Given the description of an element on the screen output the (x, y) to click on. 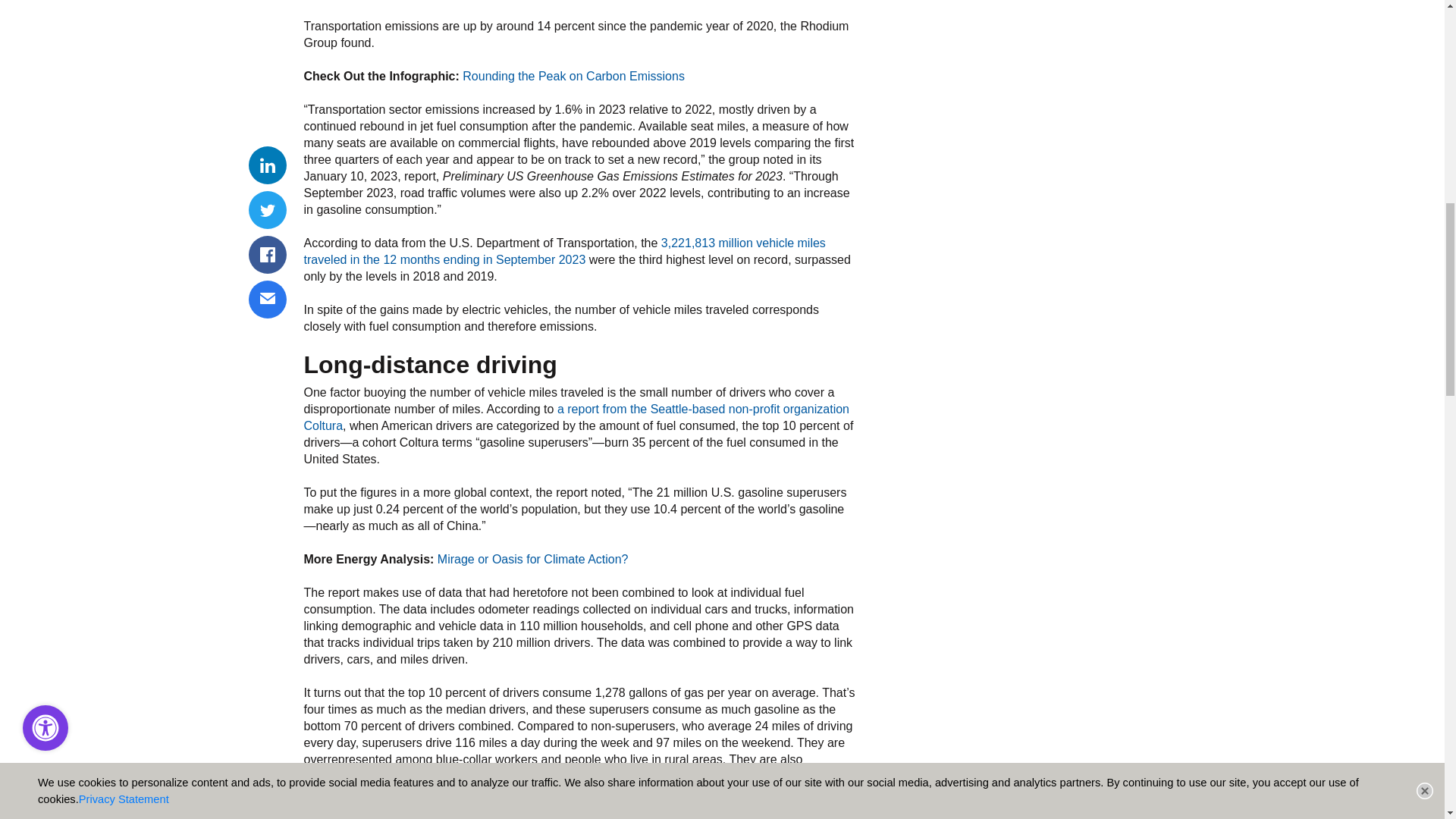
Mirage or Oasis for Climate Action? (533, 558)
Rounding the Peak on Carbon Emissions (573, 75)
